Given the description of an element on the screen output the (x, y) to click on. 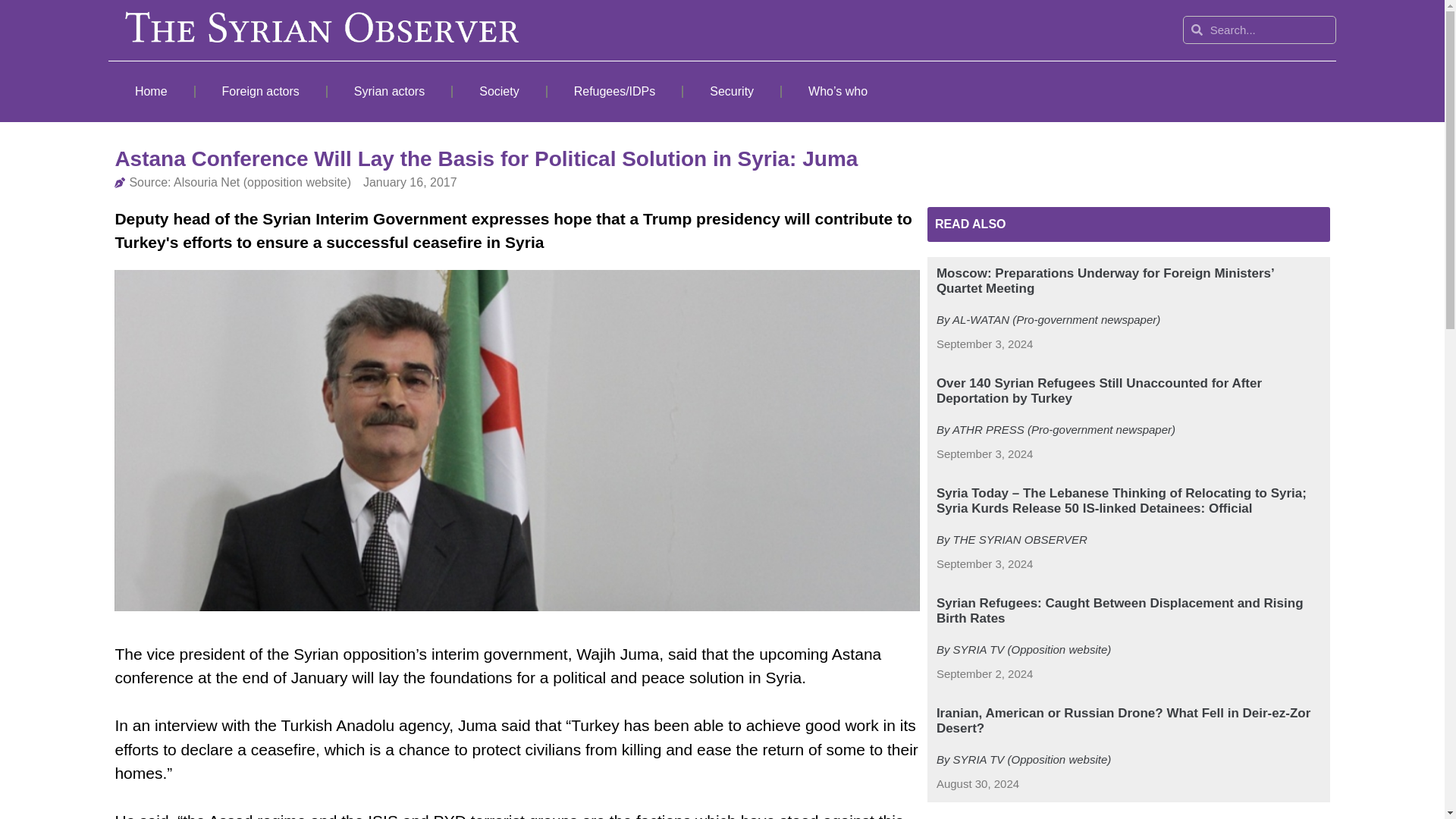
Society (498, 91)
Foreign actors (260, 91)
September 3, 2024 (984, 564)
August 30, 2024 (977, 784)
Security (731, 91)
September 3, 2024 (984, 454)
Home (150, 91)
